Given the description of an element on the screen output the (x, y) to click on. 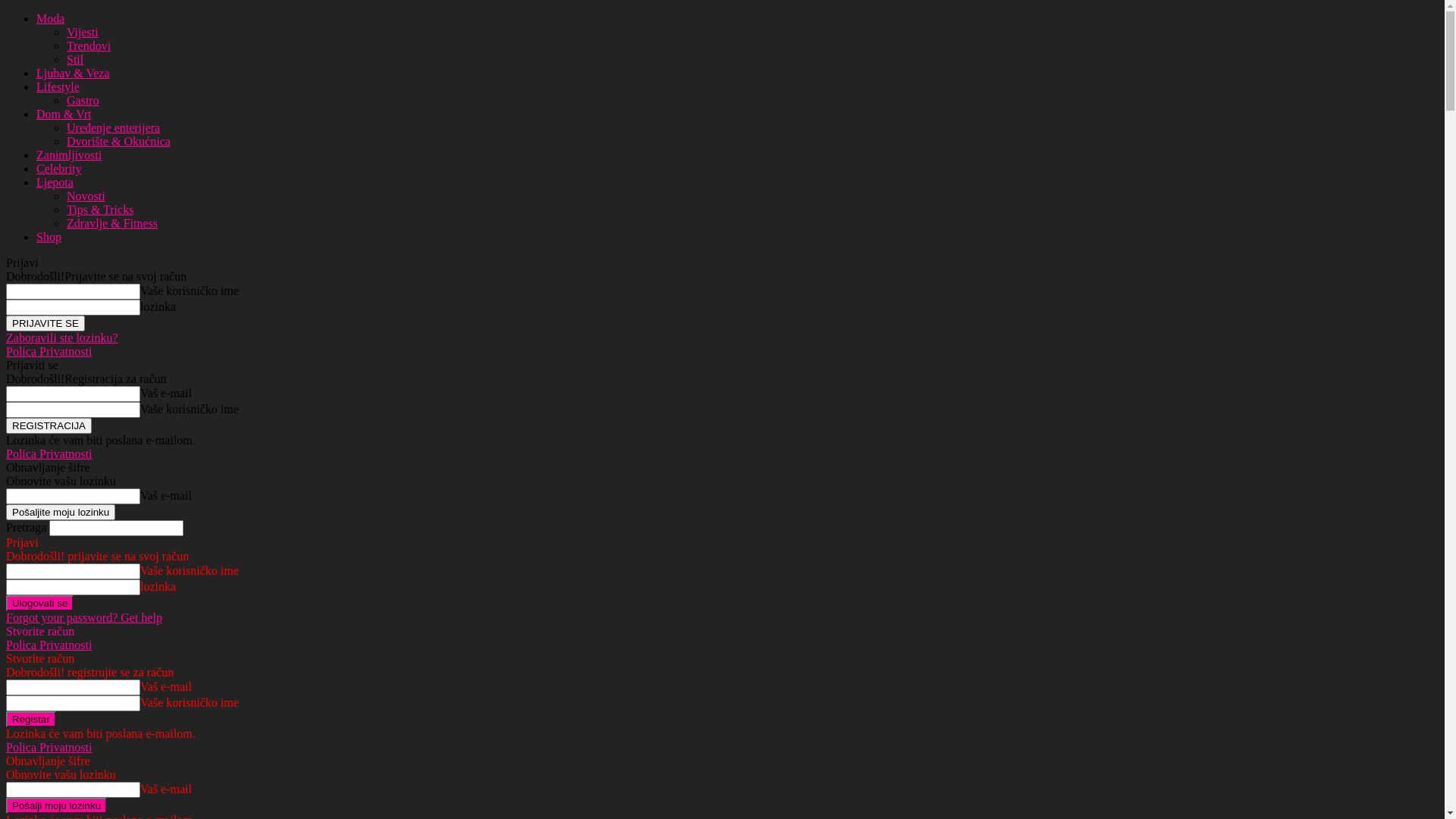
Trendovi Element type: text (88, 45)
Moda Element type: text (50, 18)
Zaboravili ste lozinku? Element type: text (62, 337)
Polica Privatnosti Element type: text (48, 644)
Ljepota Element type: text (54, 181)
Novosti Element type: text (85, 195)
Stil Element type: text (74, 59)
Shop Element type: text (48, 236)
Vijesti Element type: text (82, 31)
Gastro Element type: text (82, 100)
Zanimljivosti Element type: text (68, 154)
Forgot your password? Get help Element type: text (84, 617)
Ljubav & Veza Element type: text (72, 72)
Dom & Vrt Element type: text (63, 113)
Celebrity Element type: text (58, 168)
Tips & Tricks Element type: text (99, 209)
Polica Privatnosti Element type: text (48, 351)
Lifestyle Element type: text (57, 86)
Zdravlje & Fitness Element type: text (111, 222)
Polica Privatnosti Element type: text (48, 746)
Polica Privatnosti Element type: text (48, 453)
